Given the description of an element on the screen output the (x, y) to click on. 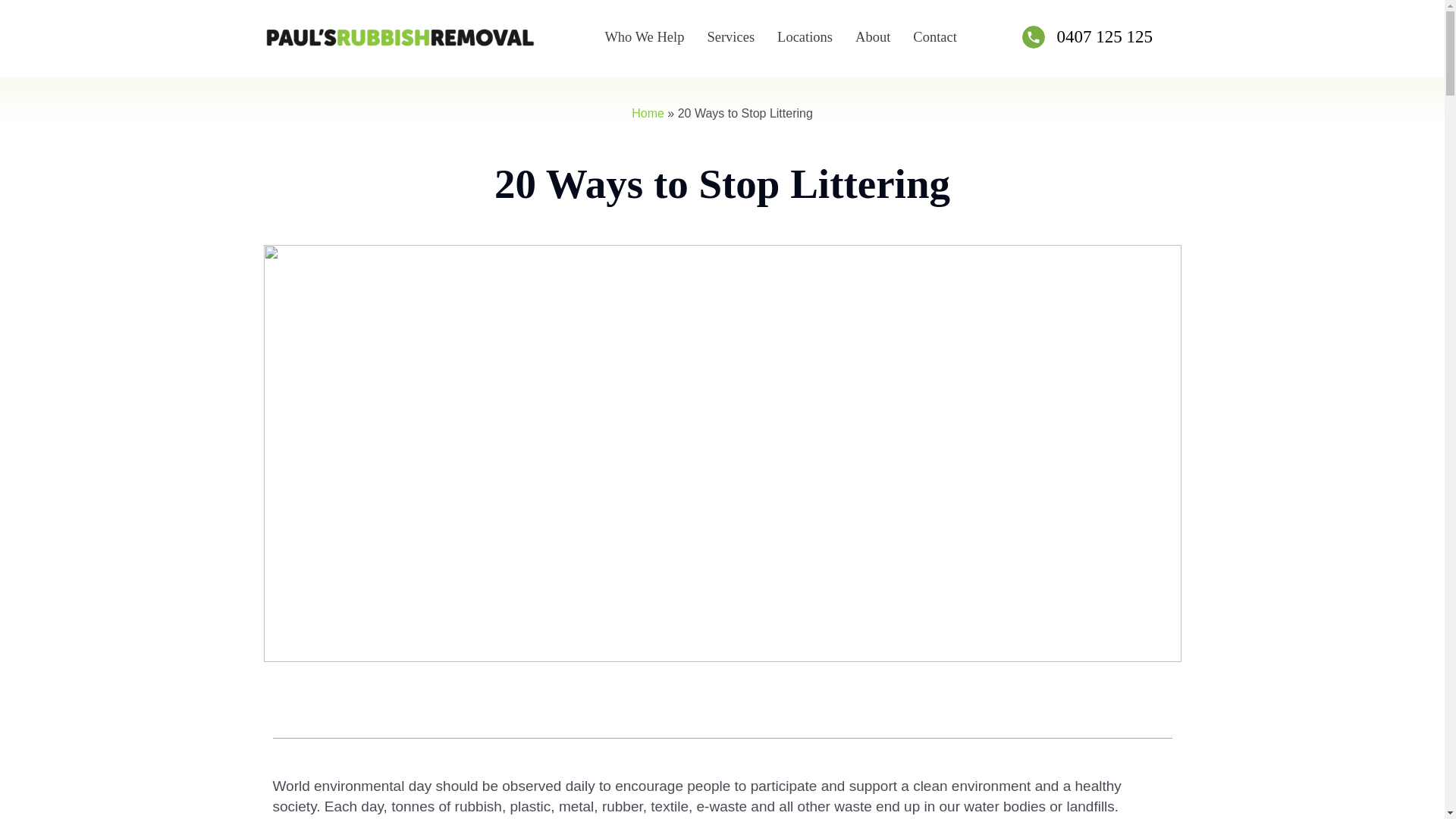
Locations (805, 36)
0407 125 125 (1105, 36)
About (872, 36)
Contact (934, 36)
Services (729, 36)
Home (647, 113)
Who We Help (643, 36)
